Given the description of an element on the screen output the (x, y) to click on. 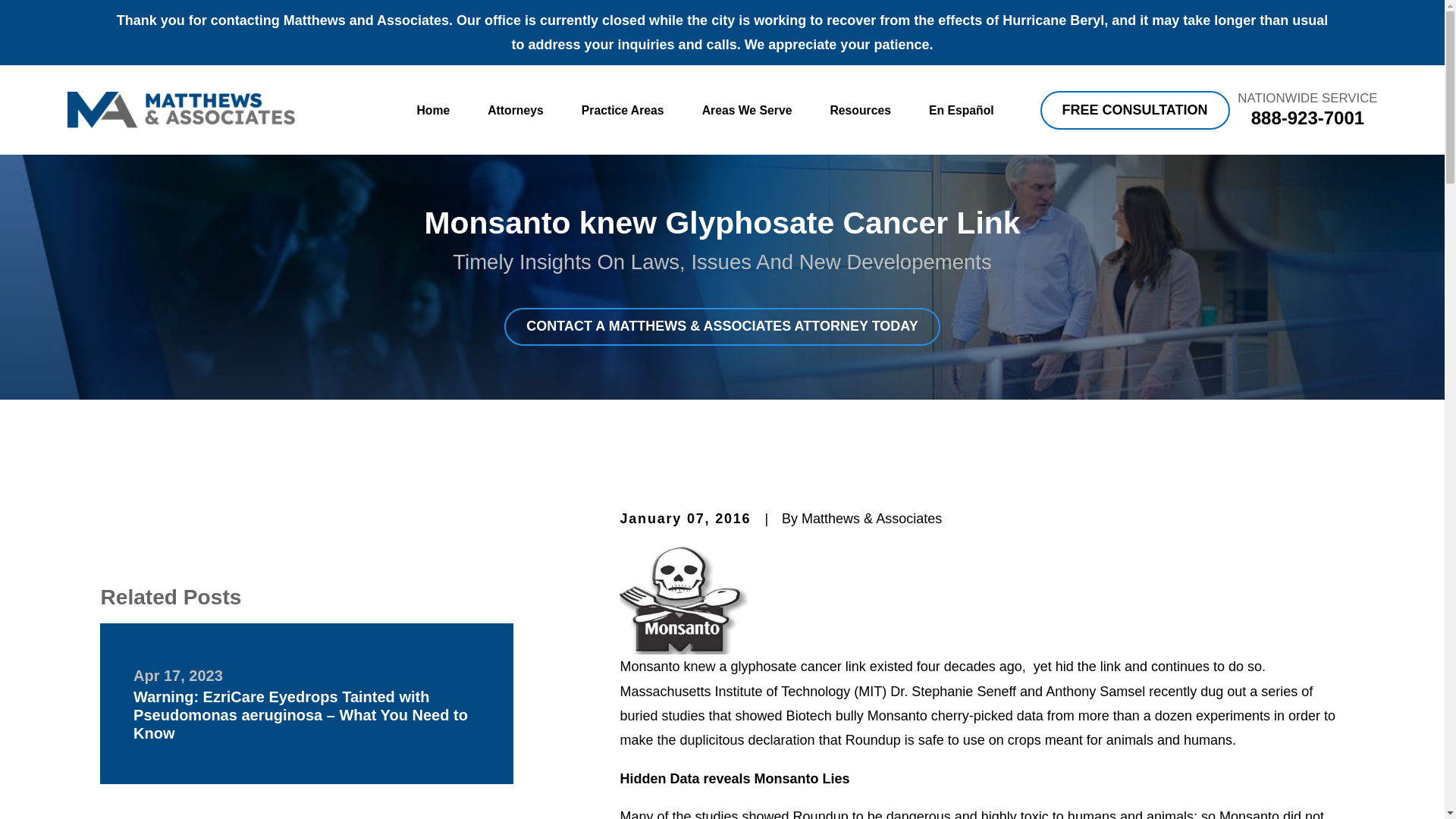
Attorneys (515, 110)
Home (180, 109)
Practice Areas (621, 110)
